Given the description of an element on the screen output the (x, y) to click on. 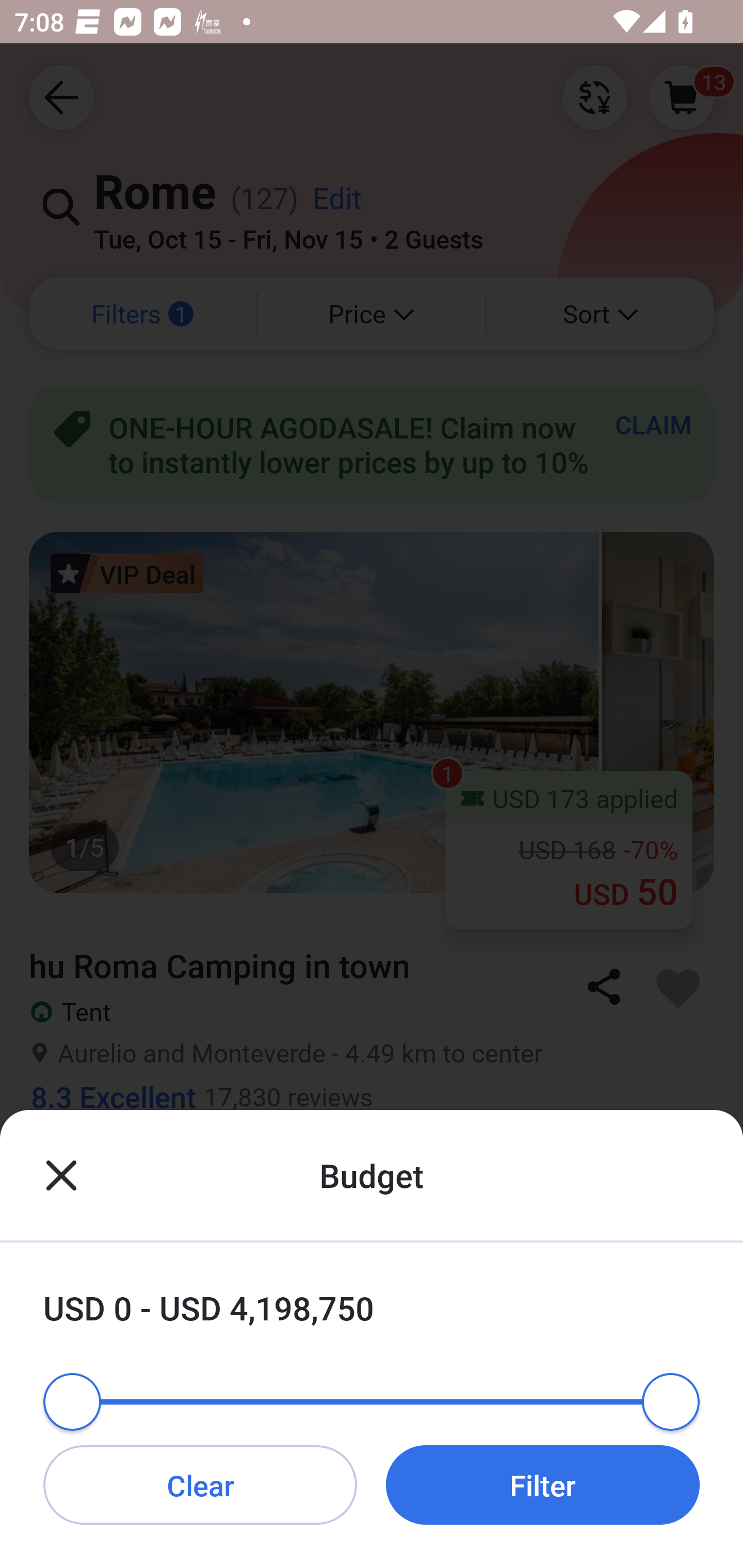
Clear (200, 1484)
Filter (542, 1484)
